Given the description of an element on the screen output the (x, y) to click on. 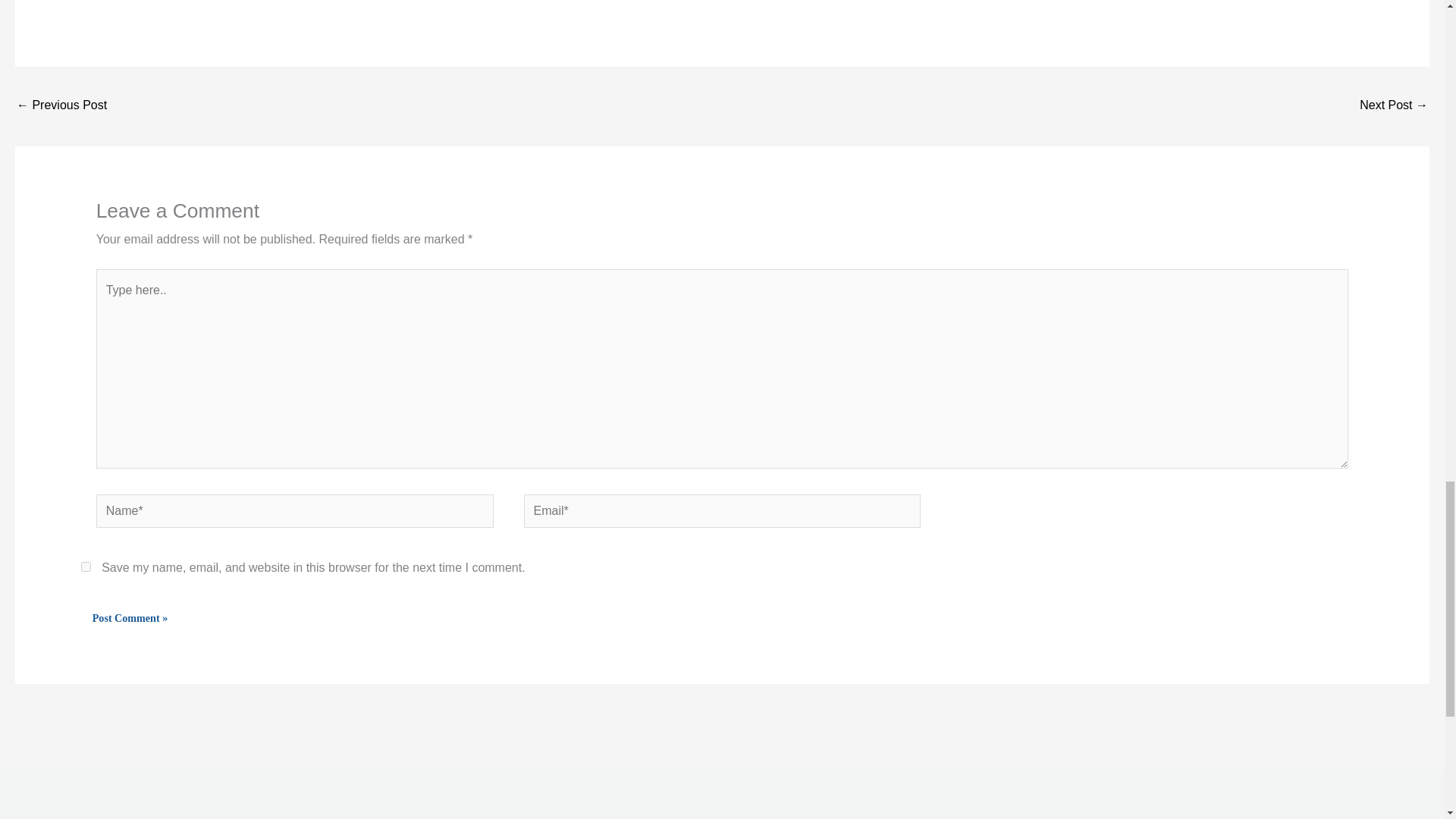
yes (85, 566)
